Given the description of an element on the screen output the (x, y) to click on. 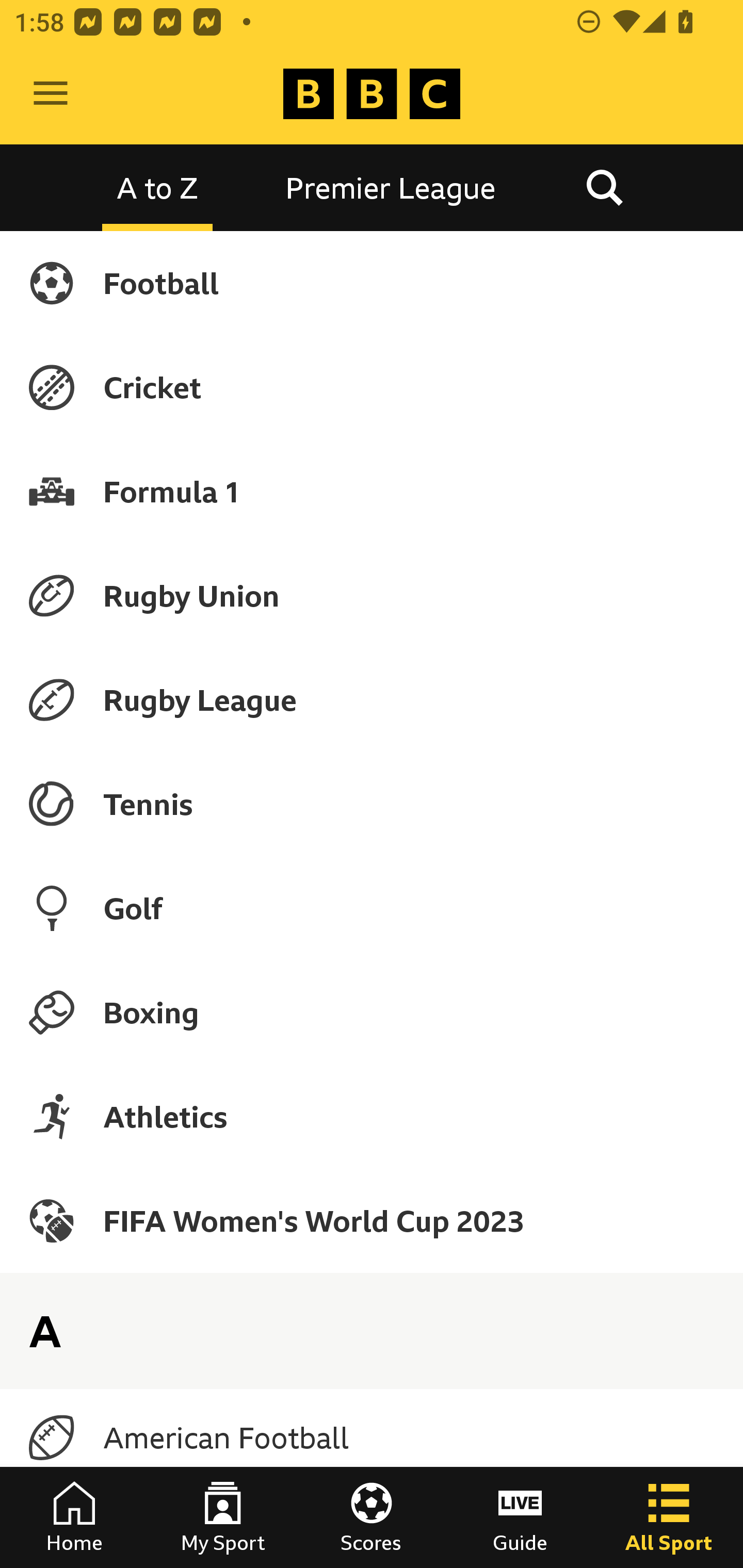
Open Menu (50, 93)
Premier League (390, 187)
Search (604, 187)
Football (371, 282)
Cricket (371, 387)
Formula 1 (371, 491)
Rugby Union (371, 595)
Rugby League (371, 699)
Tennis (371, 804)
Golf (371, 907)
Boxing (371, 1011)
Athletics (371, 1116)
FIFA Women's World Cup 2023 (371, 1220)
American Football (371, 1437)
Home (74, 1517)
My Sport (222, 1517)
Scores (371, 1517)
Guide (519, 1517)
